Given the description of an element on the screen output the (x, y) to click on. 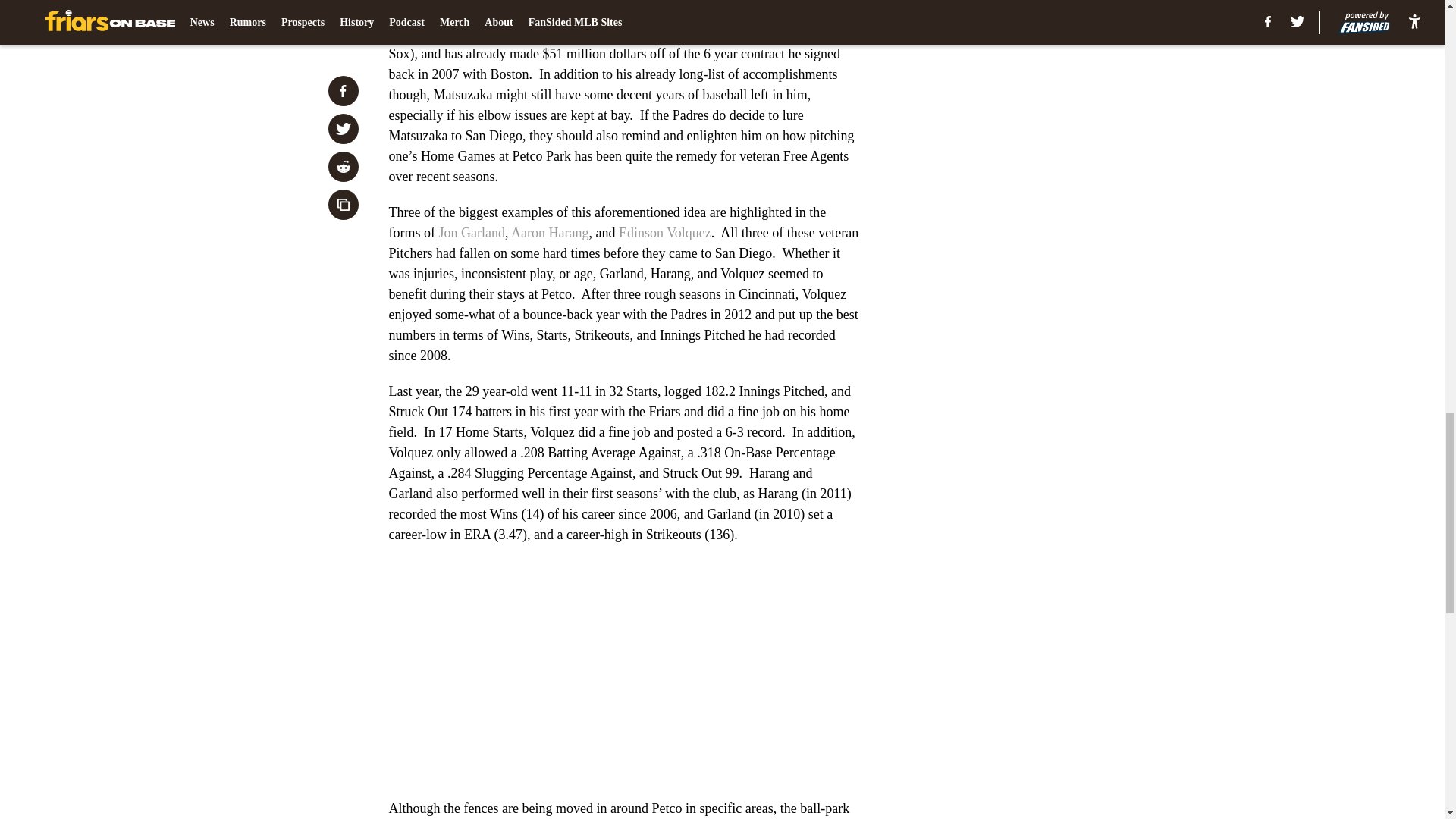
Aaron Harang (549, 232)
Edinson Volquez (664, 232)
Jon Garland (470, 232)
